Given the description of an element on the screen output the (x, y) to click on. 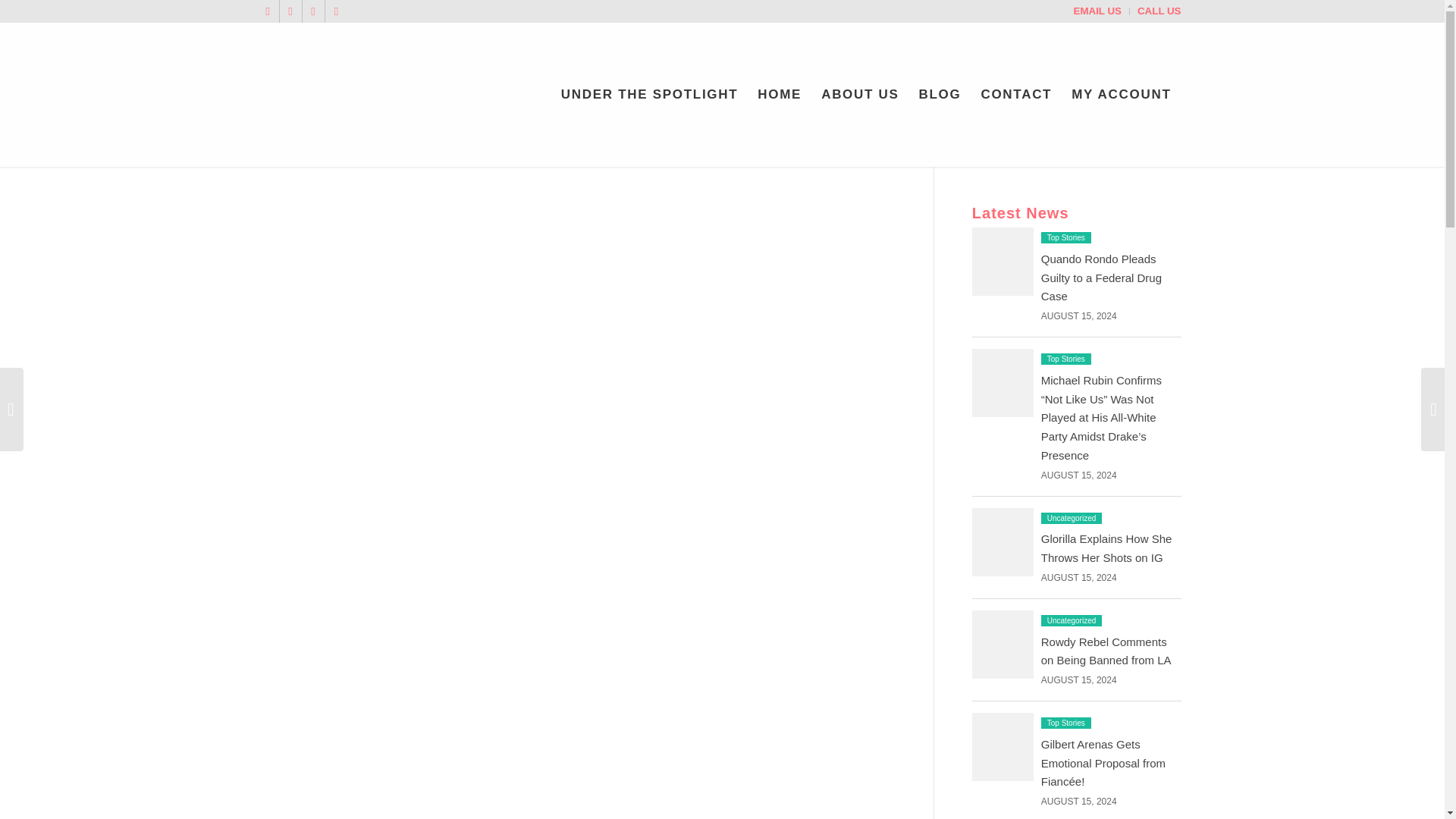
UNDER THE SPOTLIGHT (649, 94)
EMAIL US (1097, 11)
Youtube (312, 11)
CALL US (1158, 11)
Facebook (290, 11)
Twitter (267, 11)
Instagram (335, 11)
